Given the description of an element on the screen output the (x, y) to click on. 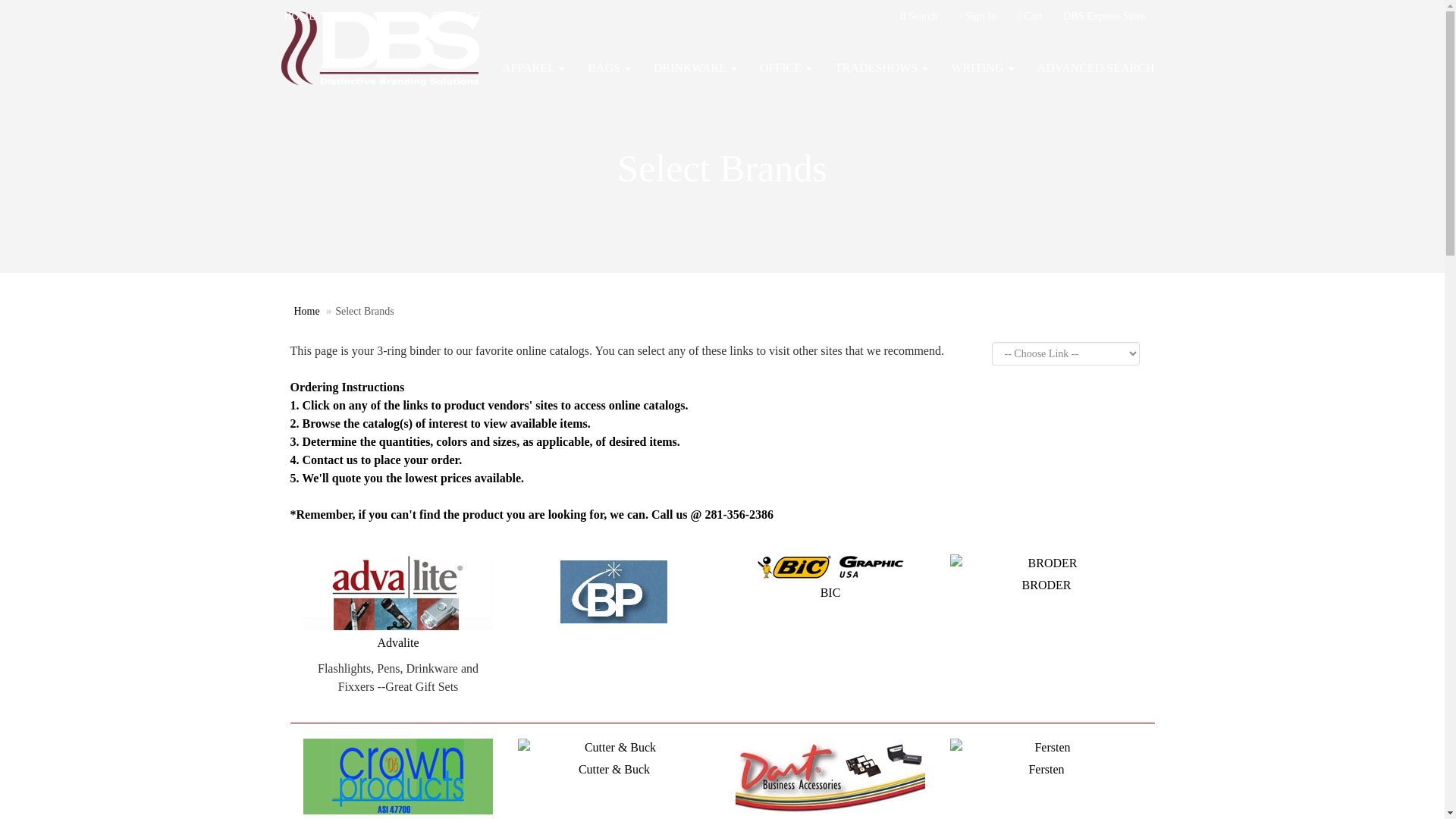
HOME (299, 16)
Sign In (977, 16)
Cart (1029, 16)
Search (918, 16)
SPECIALS (398, 16)
APPAREL (533, 67)
CONTACT (457, 16)
BAGS (609, 67)
DBS Express Store (1104, 16)
ABOUT (344, 16)
